Given the description of an element on the screen output the (x, y) to click on. 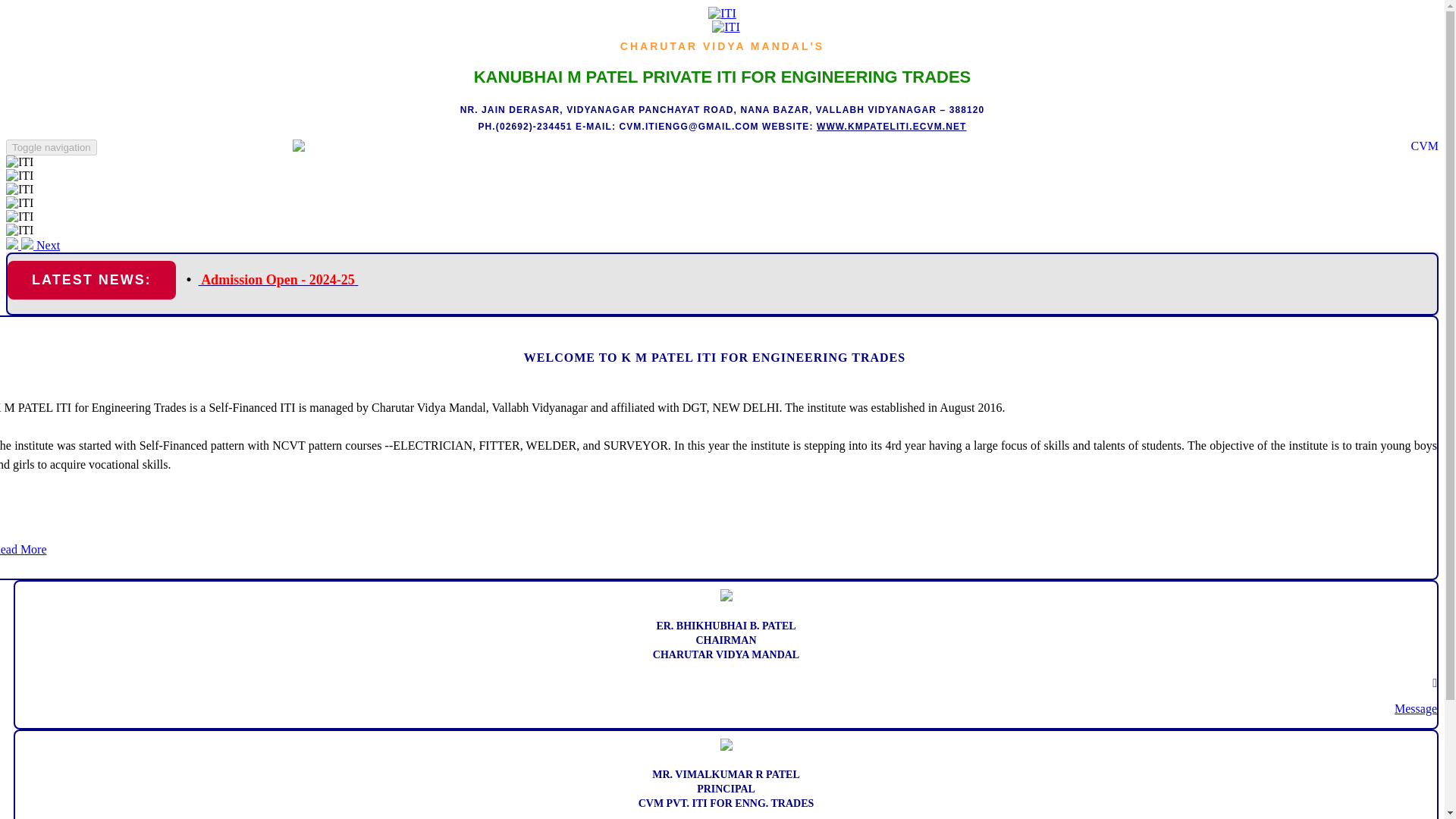
Toggle navigation (51, 147)
LATEST NEWS: (91, 280)
Next (40, 245)
Admission Open - 2024-25 (278, 279)
WWW.KMPATELITI.ECVM.NET (891, 126)
